Given the description of an element on the screen output the (x, y) to click on. 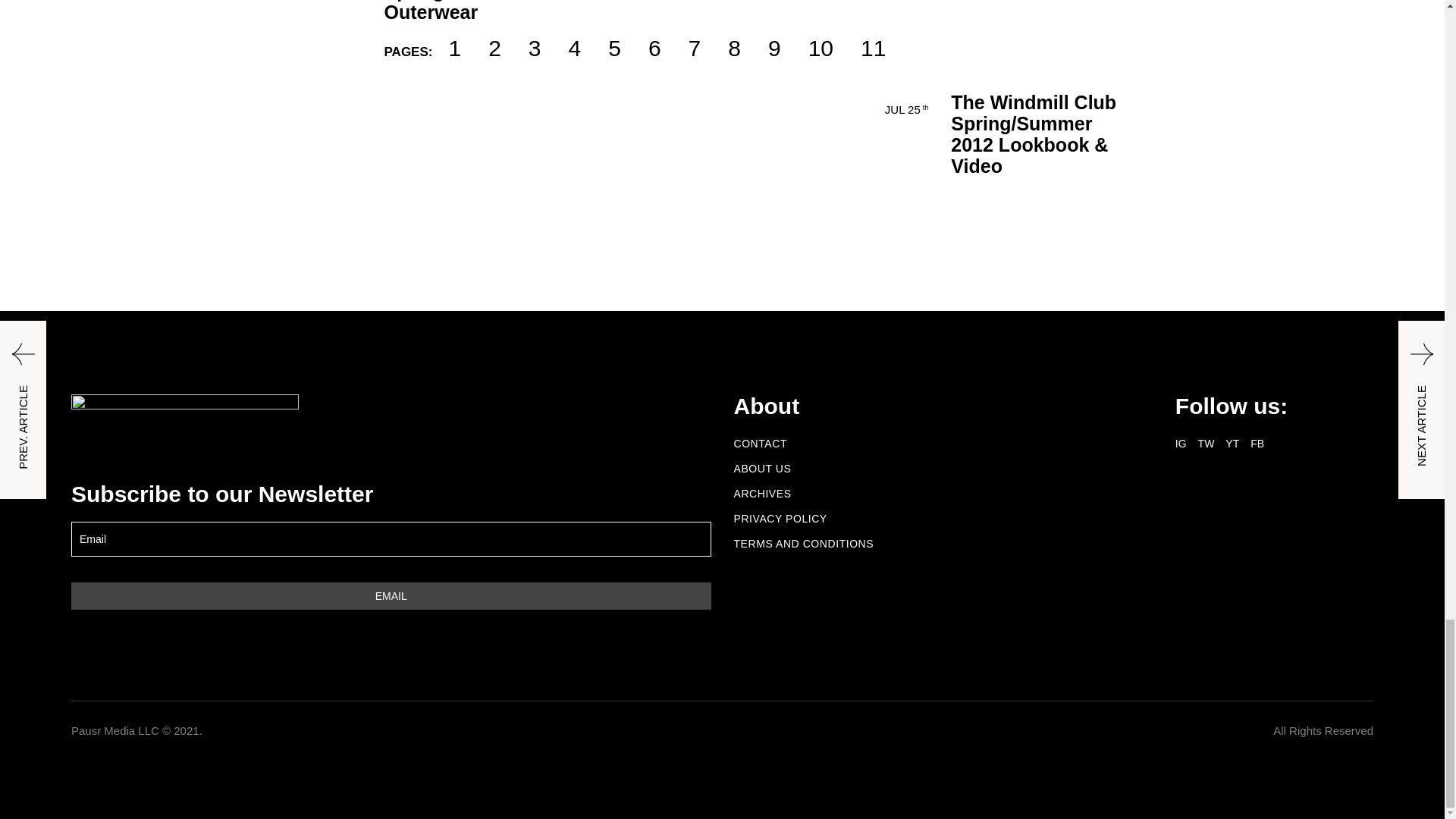
Email (391, 595)
